Given the description of an element on the screen output the (x, y) to click on. 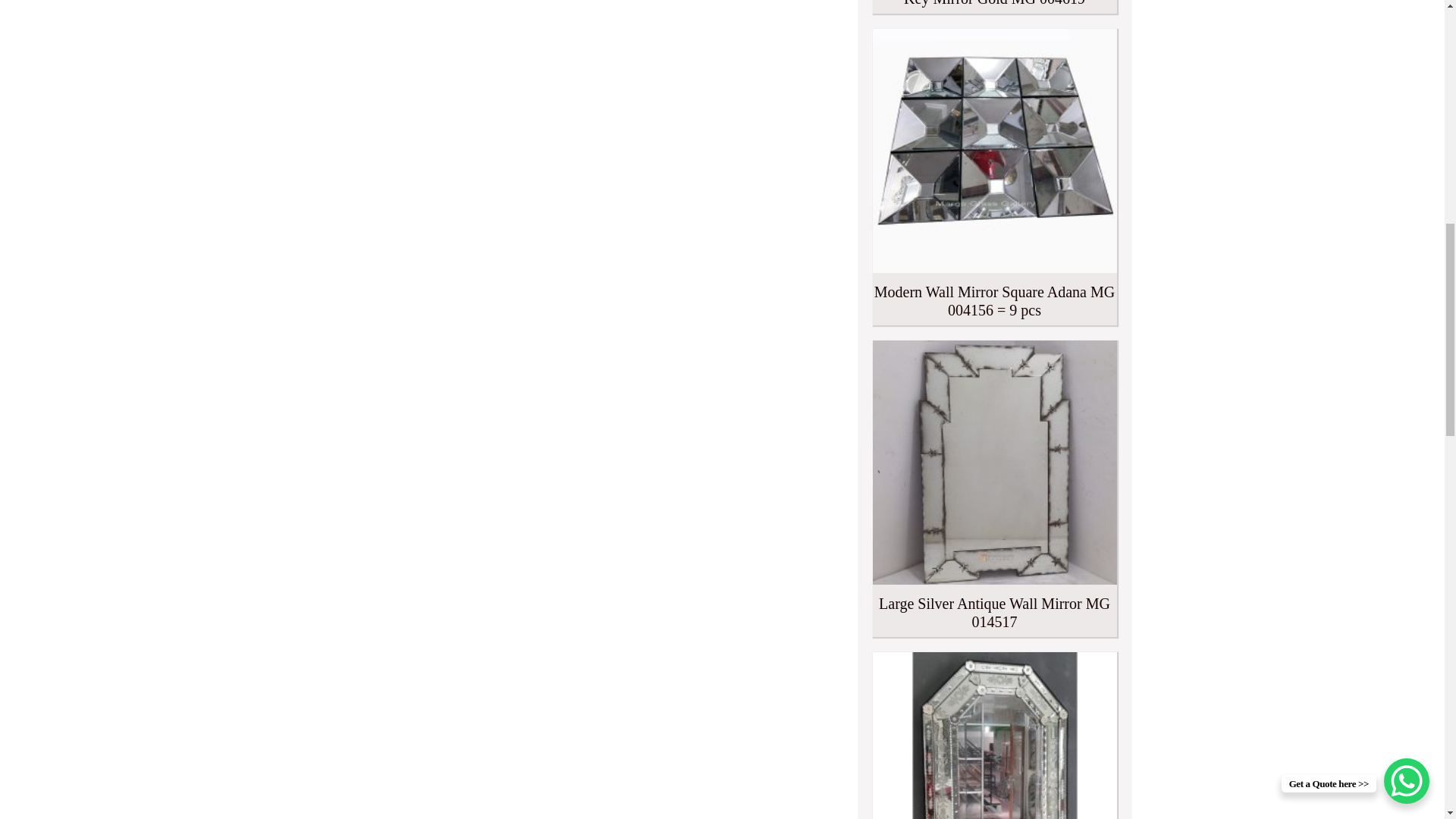
Venetian octagonal mirror Elviro Mg 080019 (994, 735)
Key Mirror Gold MG 004619 (994, 6)
